Given the description of an element on the screen output the (x, y) to click on. 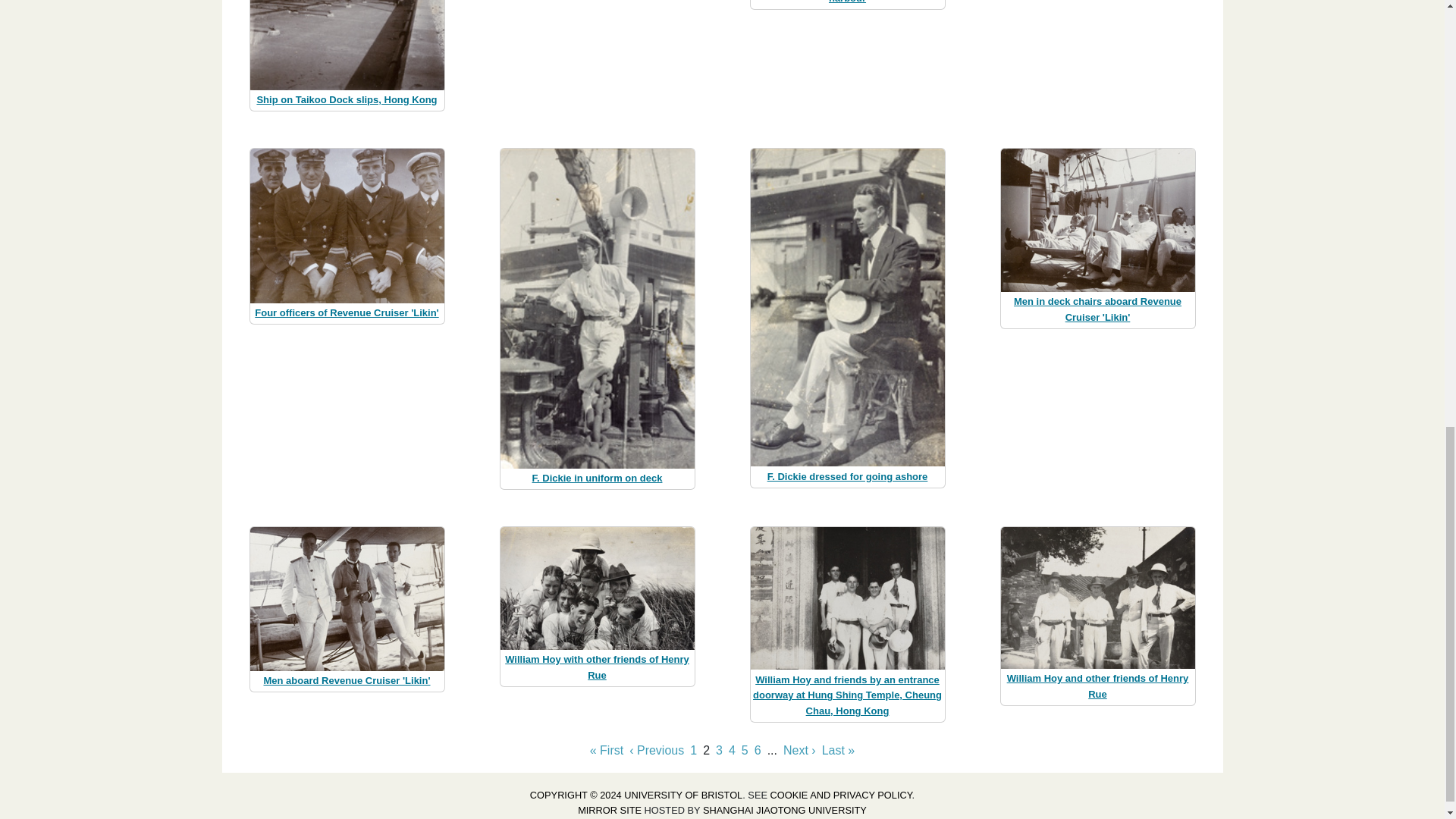
F. Dickie dressed for going ashore (847, 476)
Men in deck chairs aboard Revenue Cruiser 'Likin' (1096, 308)
William Hoy with other friends of Henry Rue (596, 666)
Revenue Cruiser 'Likin' in Hong Kong harbour (846, 2)
Four officers of Revenue Cruiser 'Likin' (346, 312)
Men aboard Revenue Cruiser 'Likin' (346, 680)
William Hoy and other friends of Henry Rue (1098, 686)
F. Dickie in uniform on deck (597, 478)
Ship on Taikoo Dock slips, Hong Kong (346, 99)
